Given the description of an element on the screen output the (x, y) to click on. 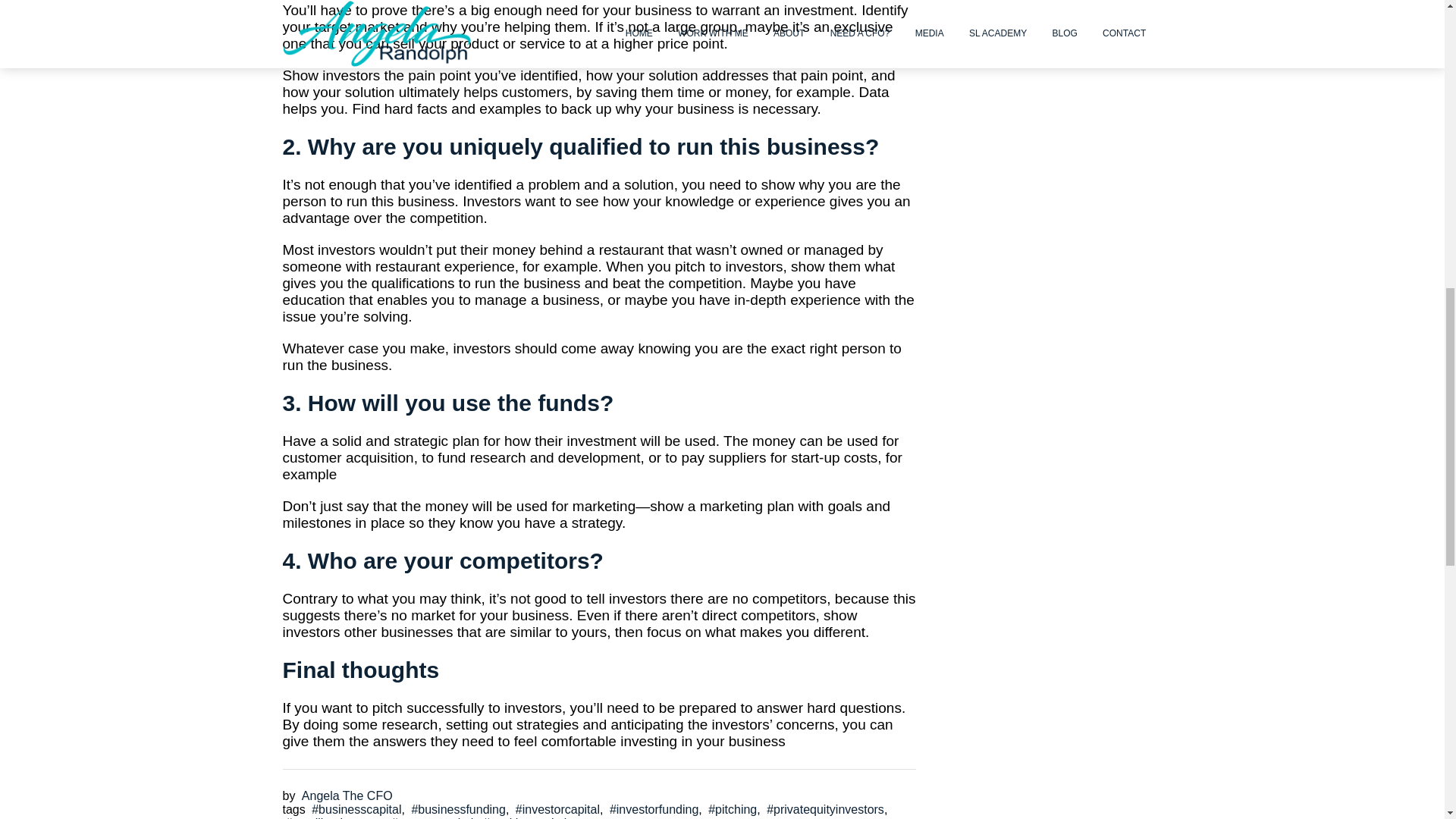
Posts by Angela The CFO (345, 795)
Angela The CFO (345, 795)
